Given the description of an element on the screen output the (x, y) to click on. 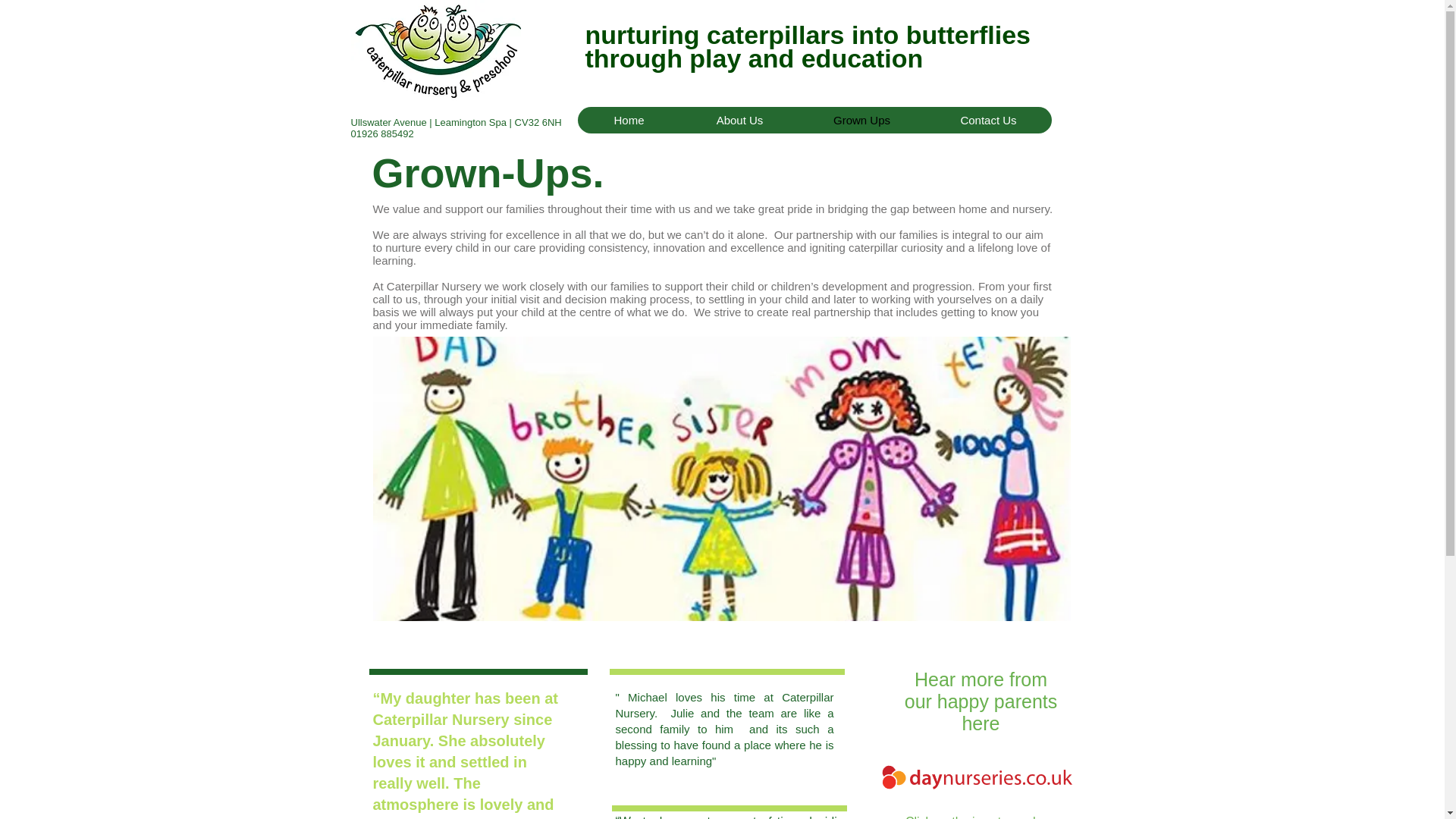
Home (629, 120)
Grown Ups (860, 120)
Contact Us (987, 120)
About Us (739, 120)
